Given the description of an element on the screen output the (x, y) to click on. 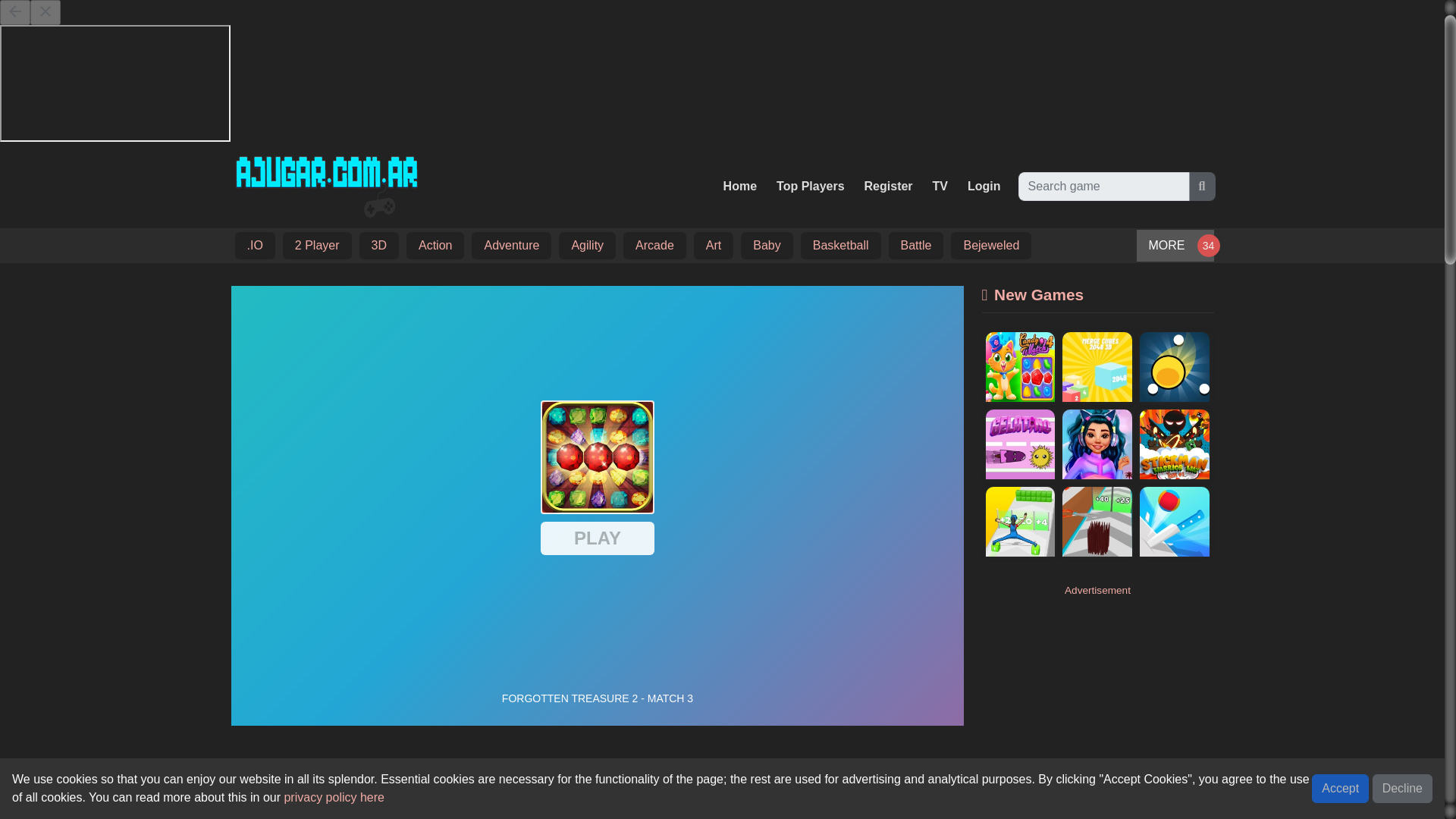
Agility (587, 245)
Action (435, 245)
.IO (254, 245)
Arcade (655, 245)
Home (739, 186)
MORE (1173, 245)
Adventure (510, 245)
TV (939, 186)
Register (888, 186)
Bejeweled (991, 245)
Login (983, 186)
2 Player (317, 245)
Top Players (810, 186)
Baby (766, 245)
Basketball (840, 245)
